Given the description of an element on the screen output the (x, y) to click on. 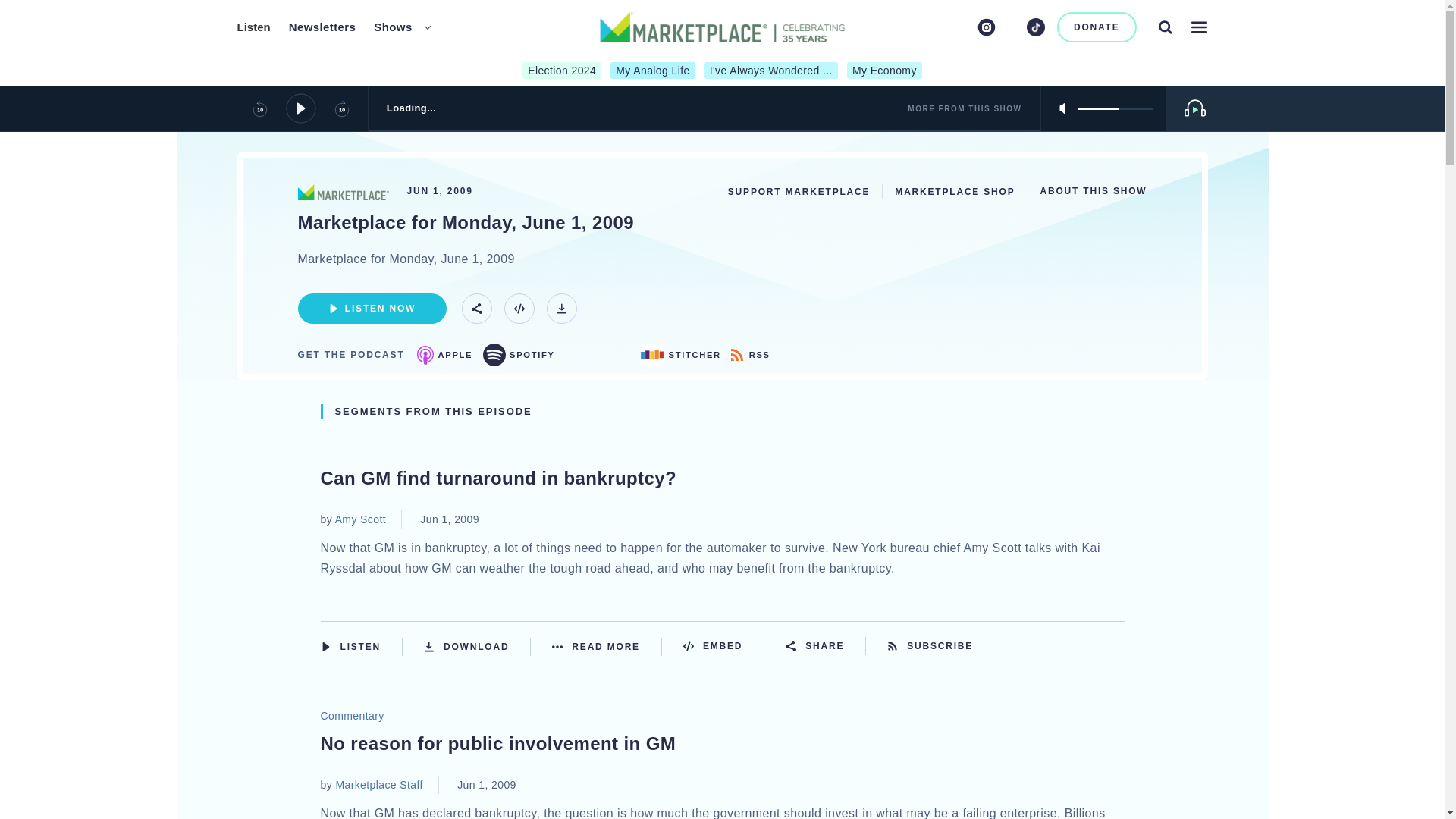
Menu (1198, 27)
5 (1115, 108)
Search (1164, 27)
Download (477, 646)
DONATE (1097, 27)
TikTok (1035, 27)
Listen Now (371, 308)
Shows (393, 26)
Listen Now (360, 646)
Read More (606, 646)
Listen (252, 26)
Youtube (1011, 27)
Facebook (962, 27)
Download Track (561, 308)
